Given the description of an element on the screen output the (x, y) to click on. 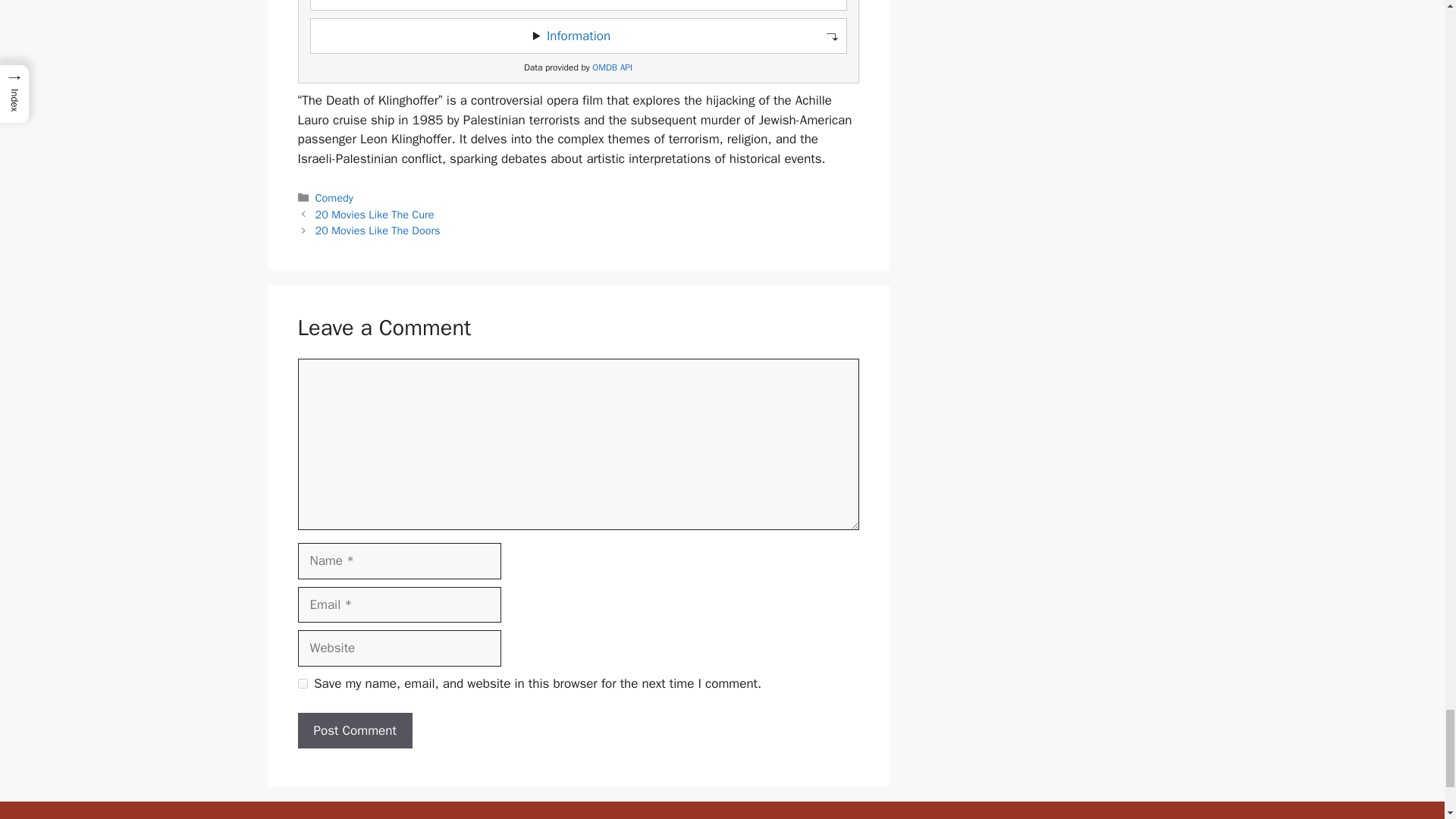
yes (302, 683)
Post Comment (354, 730)
